Given the description of an element on the screen output the (x, y) to click on. 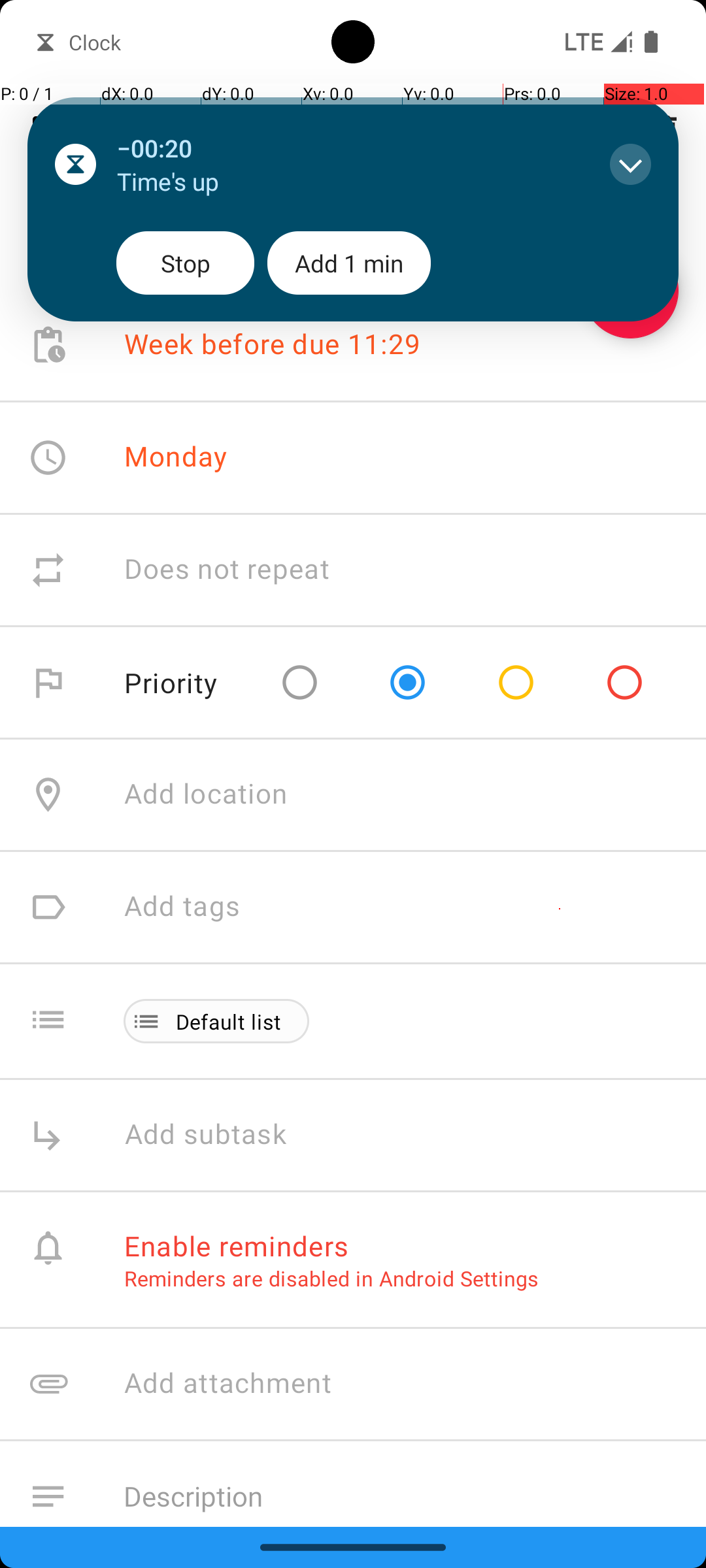
Week before due 11:29 Element type: android.widget.TextView (272, 344)
−00:20 Element type: android.widget.Chronometer (349, 147)
Time's up Element type: android.widget.TextView (349, 180)
Add 1 min Element type: android.widget.Button (348, 262)
